Given the description of an element on the screen output the (x, y) to click on. 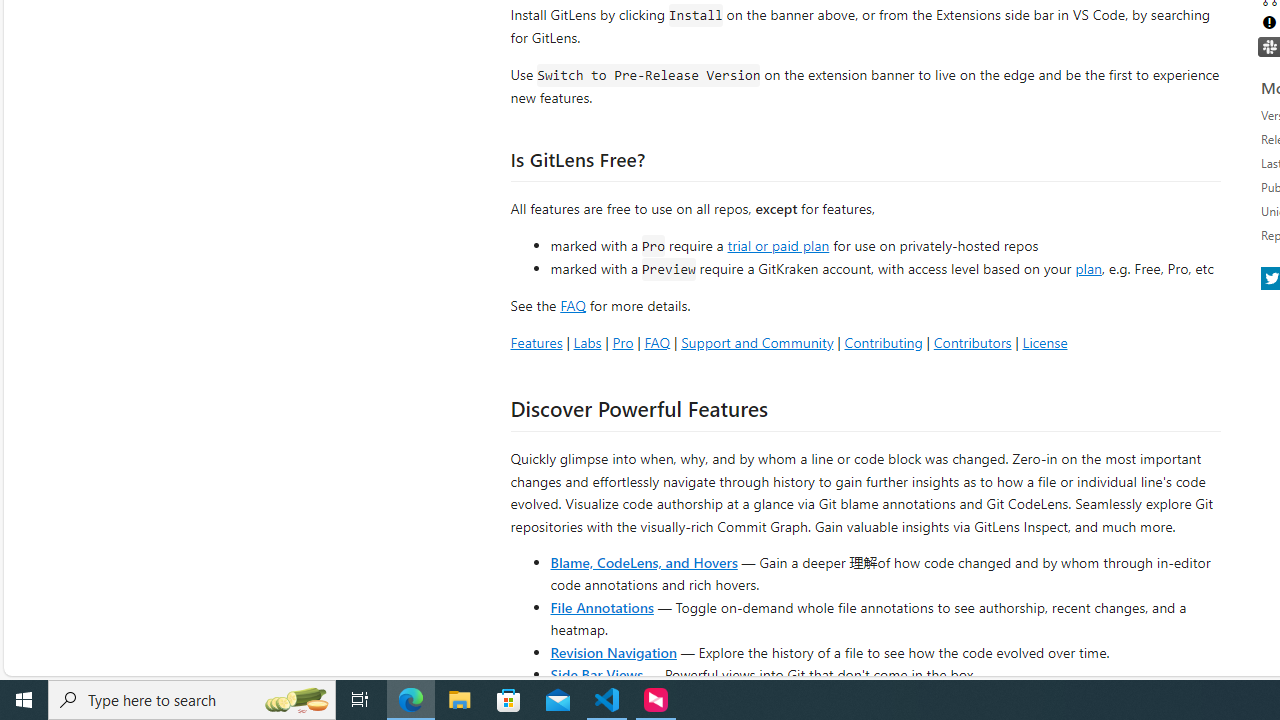
Side Bar Views (596, 673)
trial or paid plan (778, 244)
Revision Navigation (613, 651)
License (1044, 341)
Labs (587, 341)
Contributing (882, 341)
Features (536, 341)
Support and Community (757, 341)
Contributors (972, 341)
Pro (622, 341)
File Annotations (602, 606)
